Given the description of an element on the screen output the (x, y) to click on. 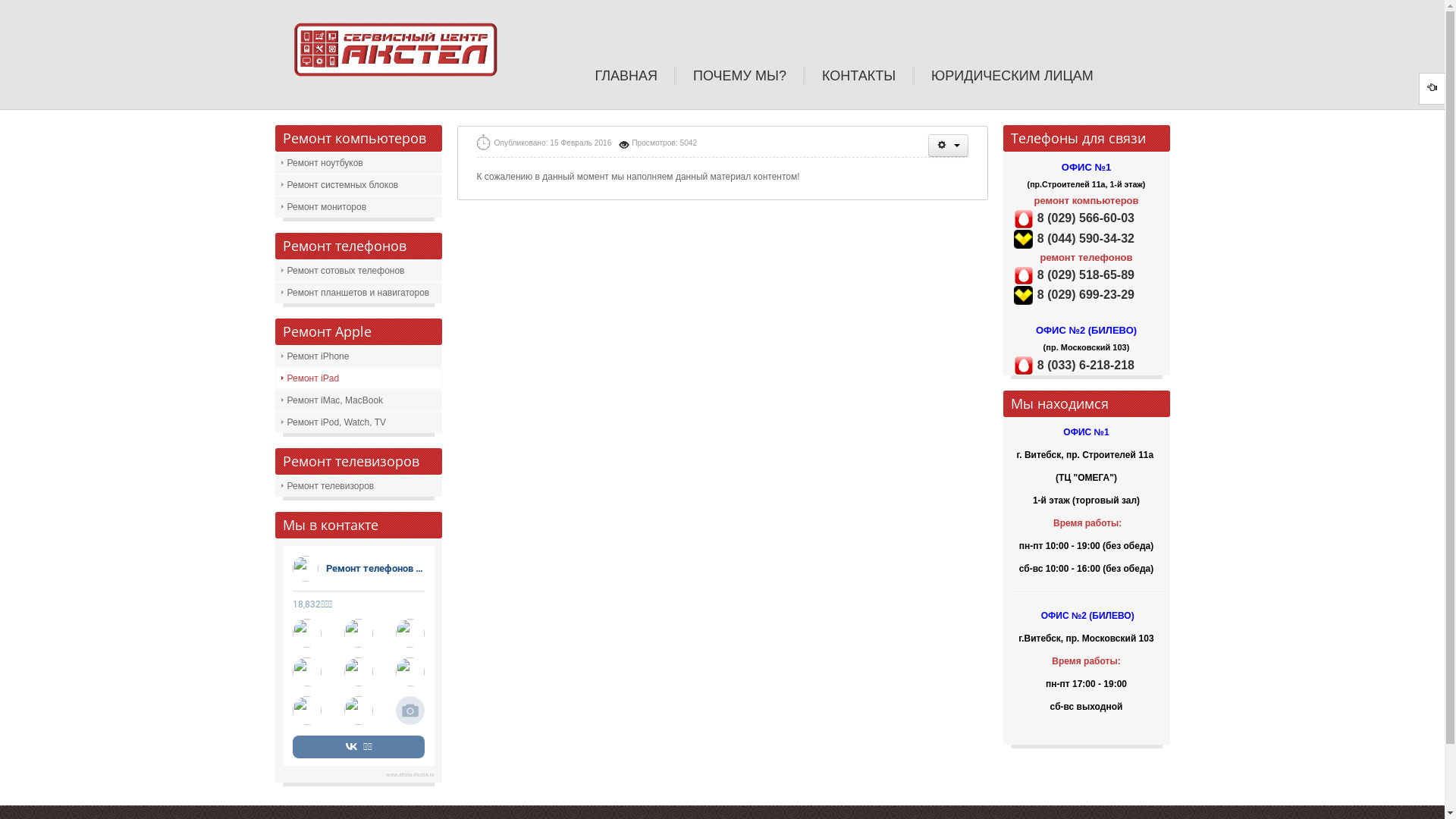
www.afisha-irkutsk.ru Element type: text (410, 774)
